Given the description of an element on the screen output the (x, y) to click on. 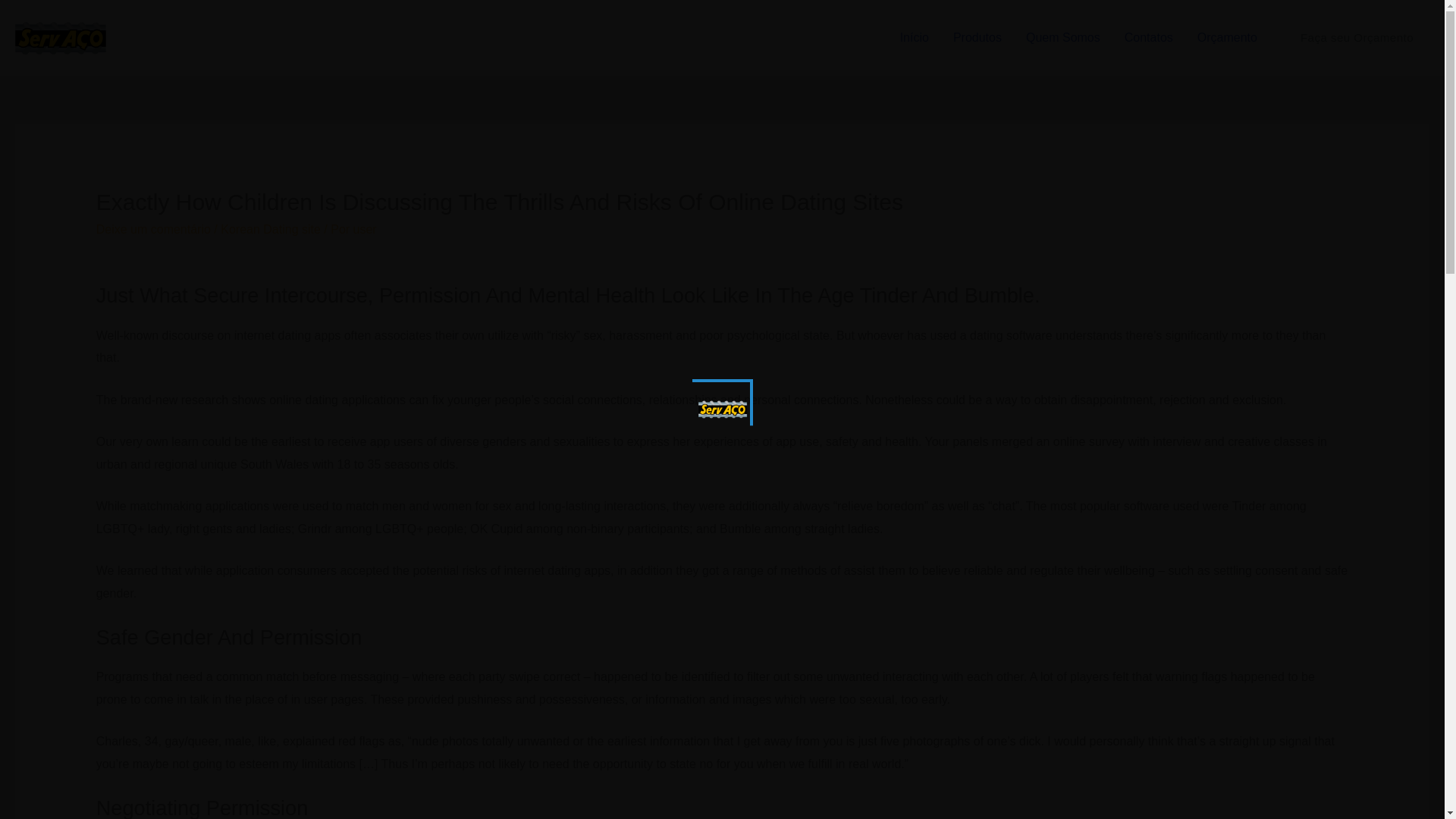
user (365, 228)
Produtos (976, 38)
Contatos (1148, 38)
Korean Dating site (270, 228)
Quem Somos (1062, 38)
Ver todos os posts de user (365, 228)
